Given the description of an element on the screen output the (x, y) to click on. 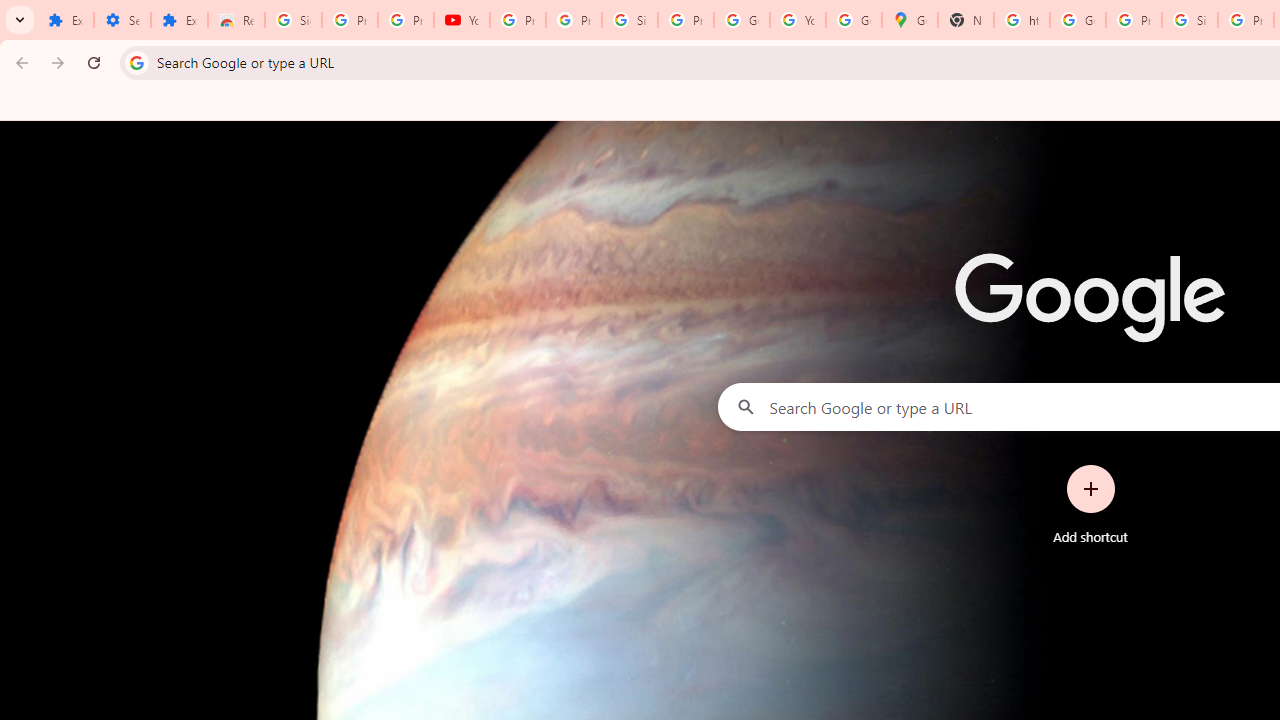
https://scholar.google.com/ (1021, 20)
YouTube (461, 20)
Sign in - Google Accounts (629, 20)
Settings (122, 20)
Add shortcut (1090, 504)
Google Maps (909, 20)
Extensions (65, 20)
Sign in - Google Accounts (293, 20)
Extensions (179, 20)
Google Account (742, 20)
